Given the description of an element on the screen output the (x, y) to click on. 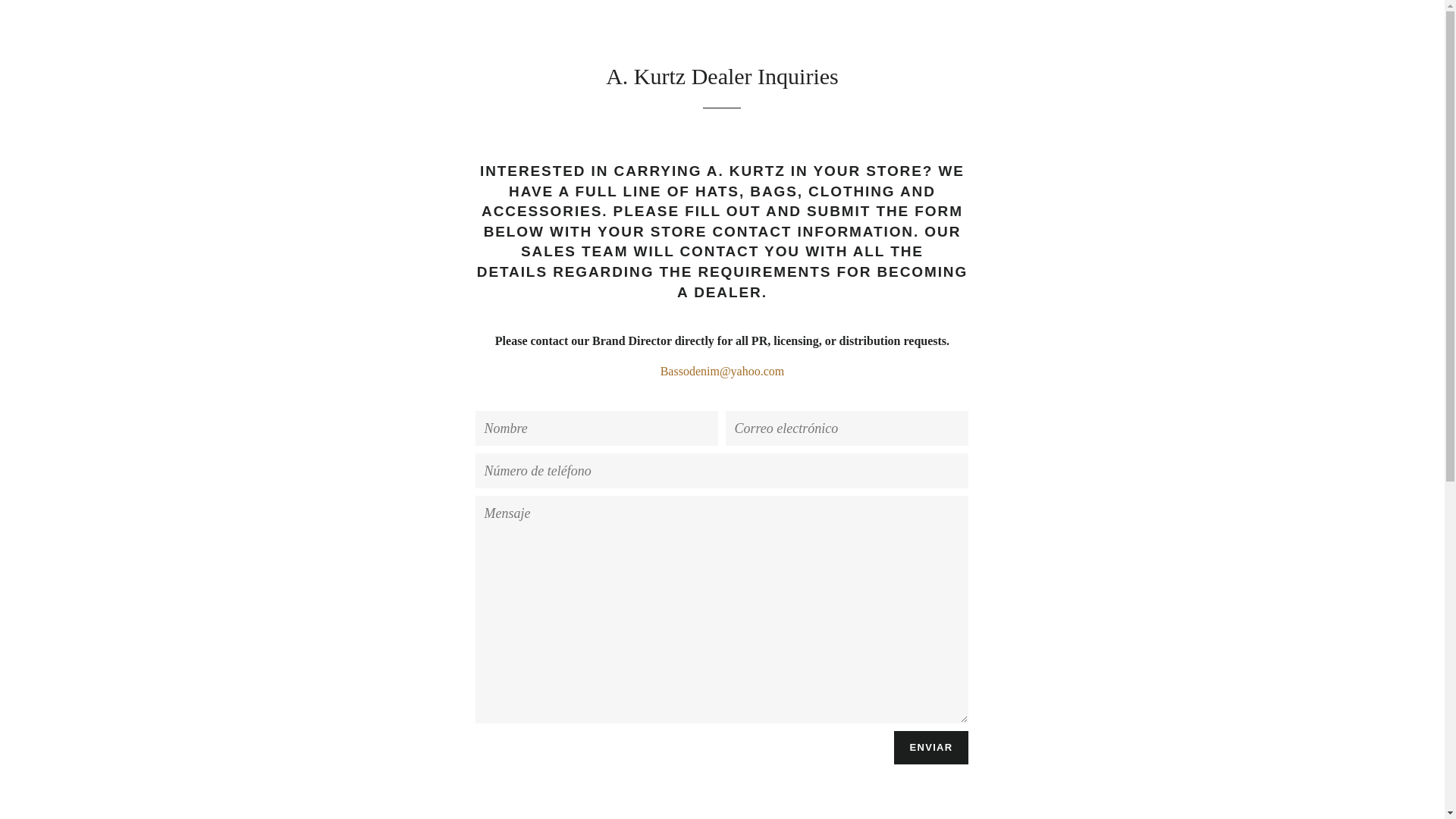
Enviar (931, 747)
